Given the description of an element on the screen output the (x, y) to click on. 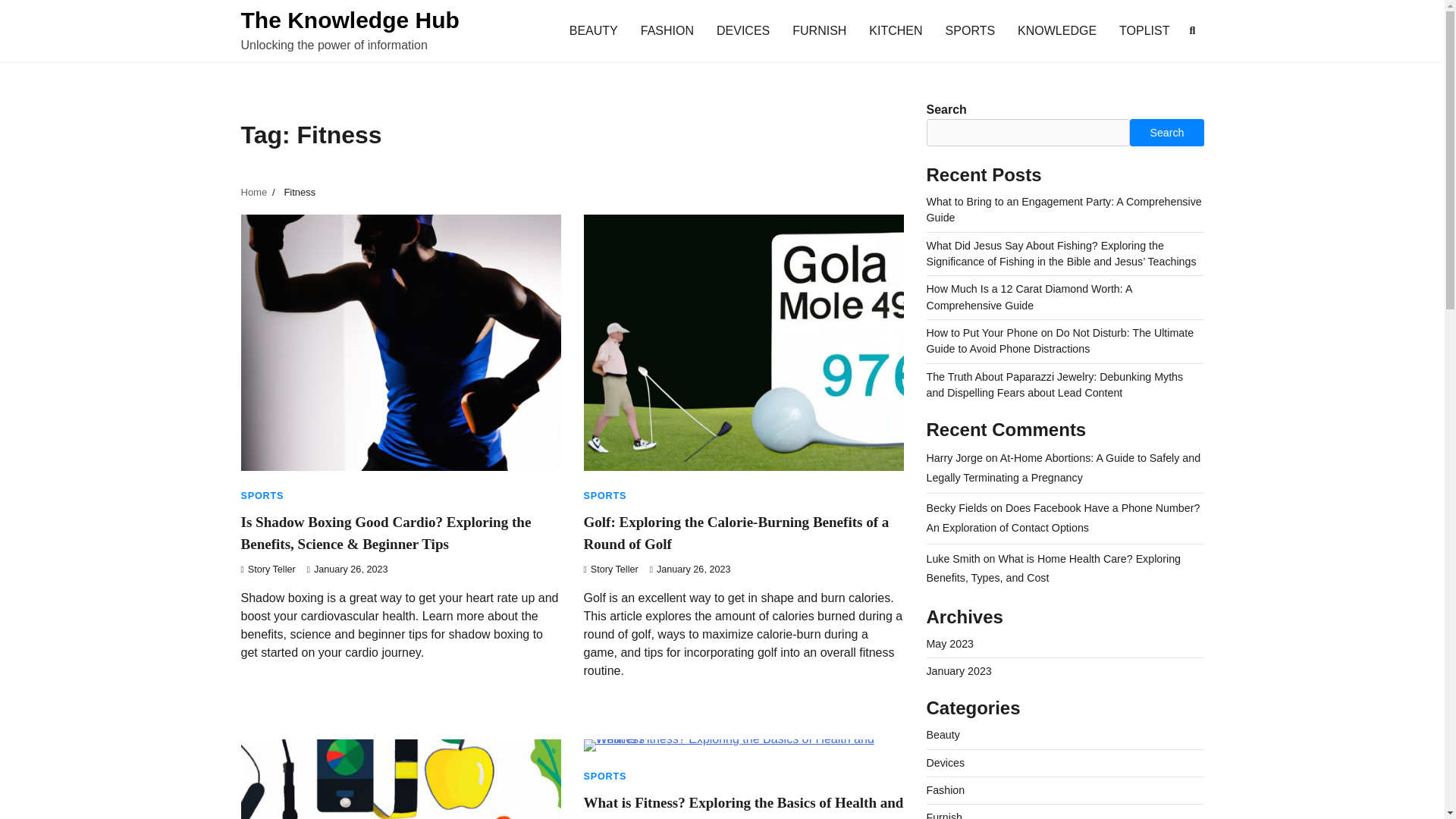
SPORTS (605, 495)
FURNISH (818, 30)
Story Teller (611, 569)
What is Fitness? Exploring the Basics of Health and Wellness (743, 806)
Home (254, 192)
DEVICES (742, 30)
Story Teller (268, 569)
KNOWLEDGE (1057, 30)
FASHION (666, 30)
